Given the description of an element on the screen output the (x, y) to click on. 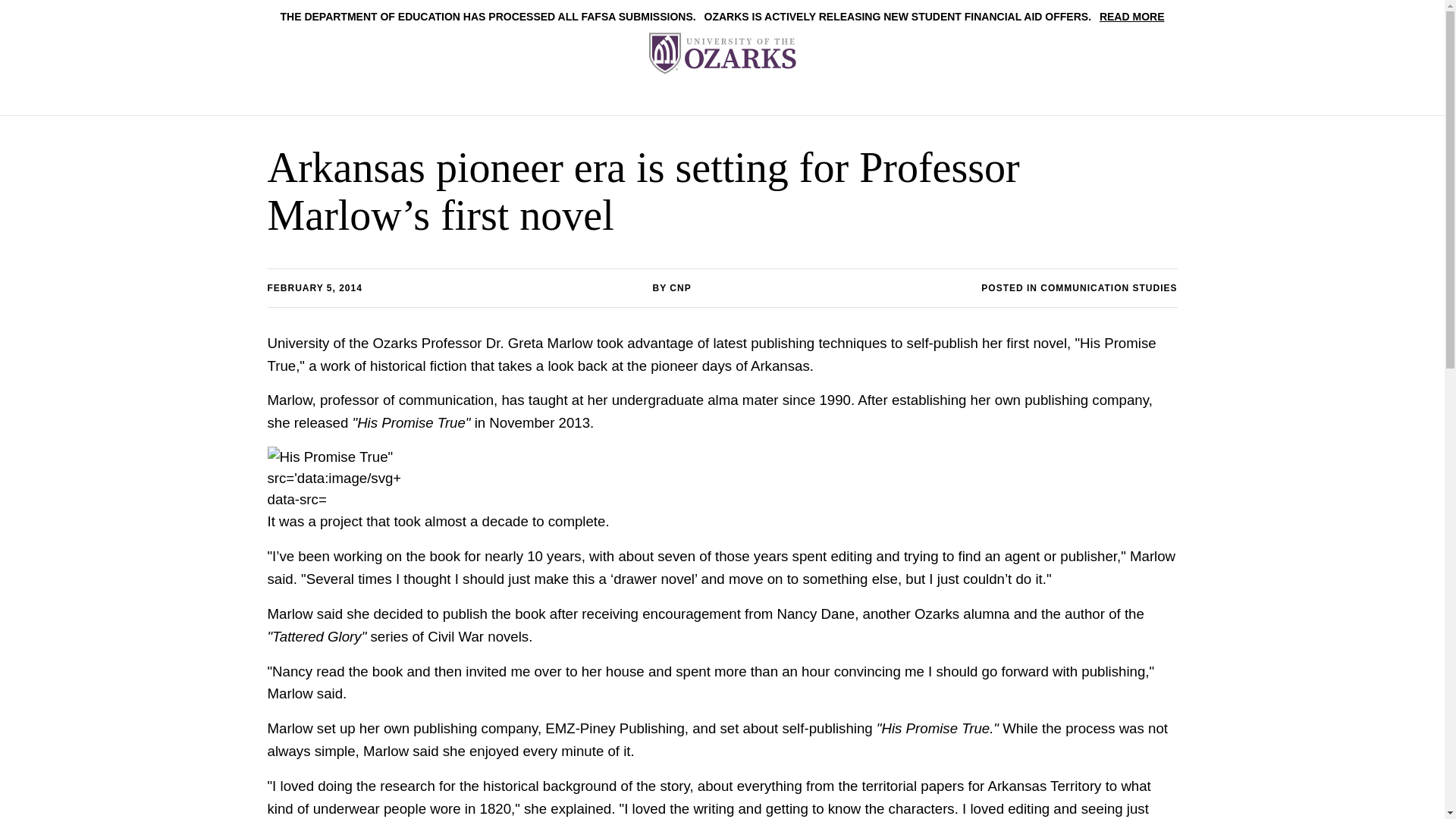
University of the Ozarks (722, 53)
READ MORE (1131, 16)
Search (985, 84)
